Given the description of an element on the screen output the (x, y) to click on. 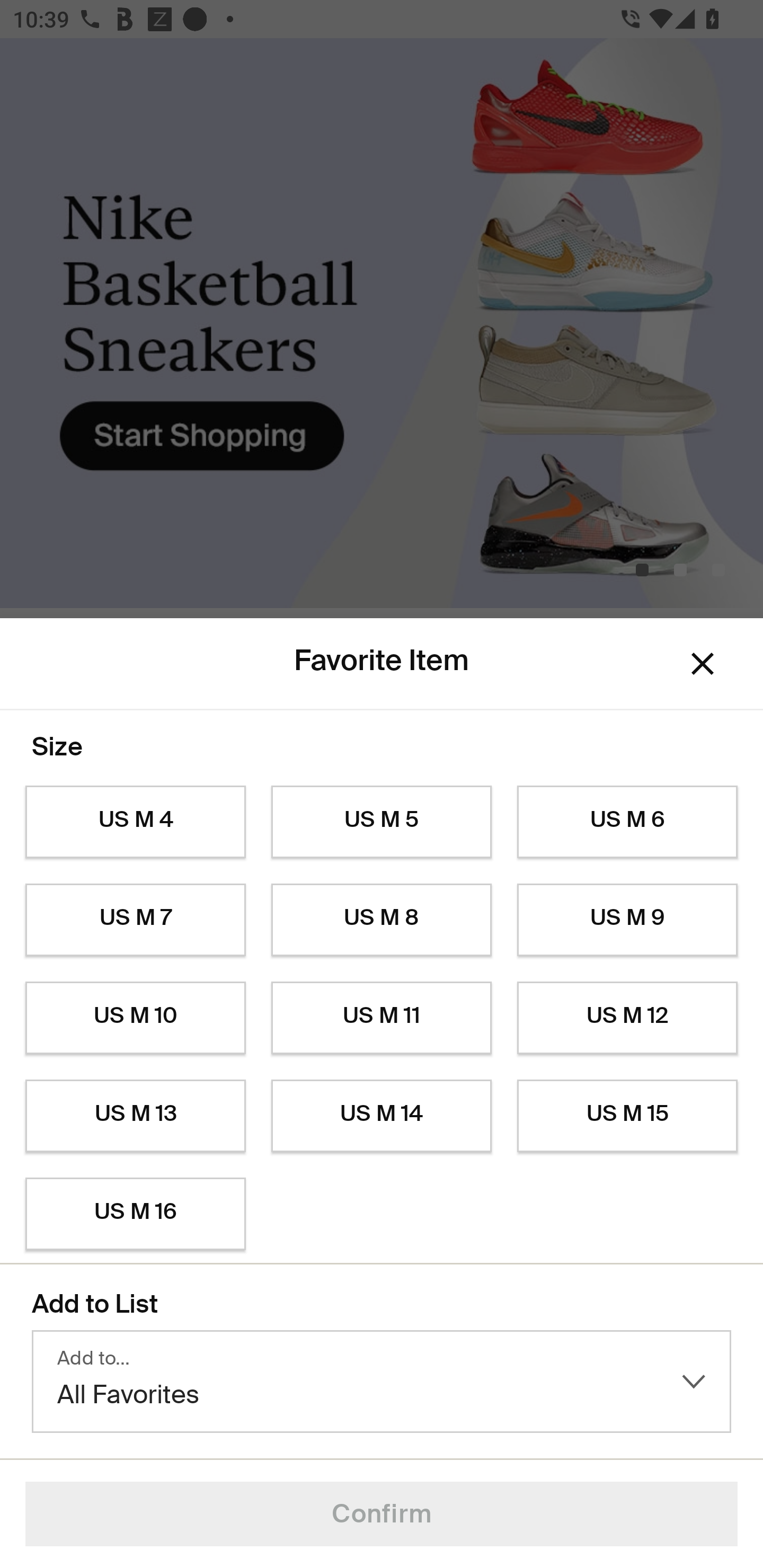
Dismiss (702, 663)
US M 4 (135, 822)
US M 5 (381, 822)
US M 6 (627, 822)
US M 7 (135, 919)
US M 8 (381, 919)
US M 9 (627, 919)
US M 10 (135, 1018)
US M 11 (381, 1018)
US M 12 (627, 1018)
US M 13 (135, 1116)
US M 14 (381, 1116)
US M 15 (627, 1116)
US M 16 (135, 1214)
Add to… All Favorites (381, 1381)
Confirm (381, 1513)
